Given the description of an element on the screen output the (x, y) to click on. 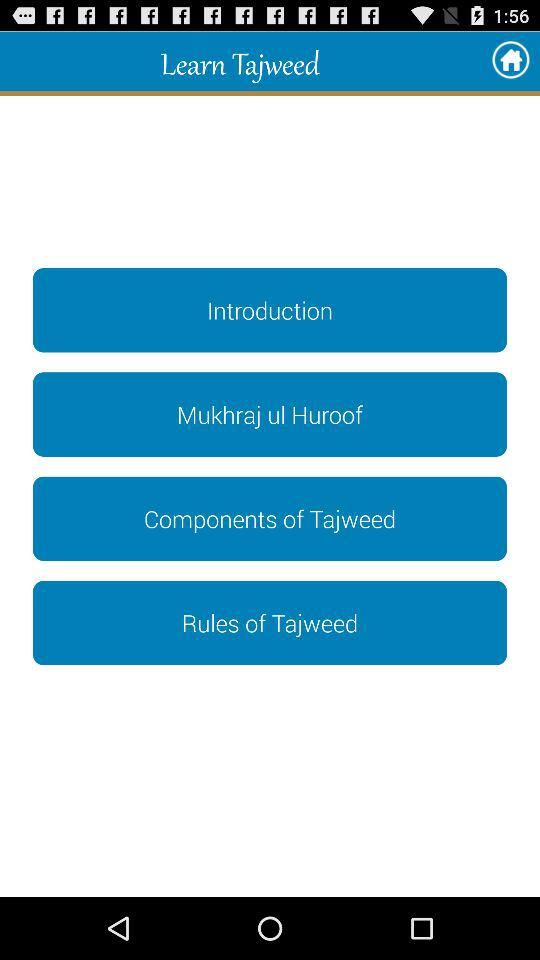
turn on item to the right of learn tajweed icon (510, 60)
